Given the description of an element on the screen output the (x, y) to click on. 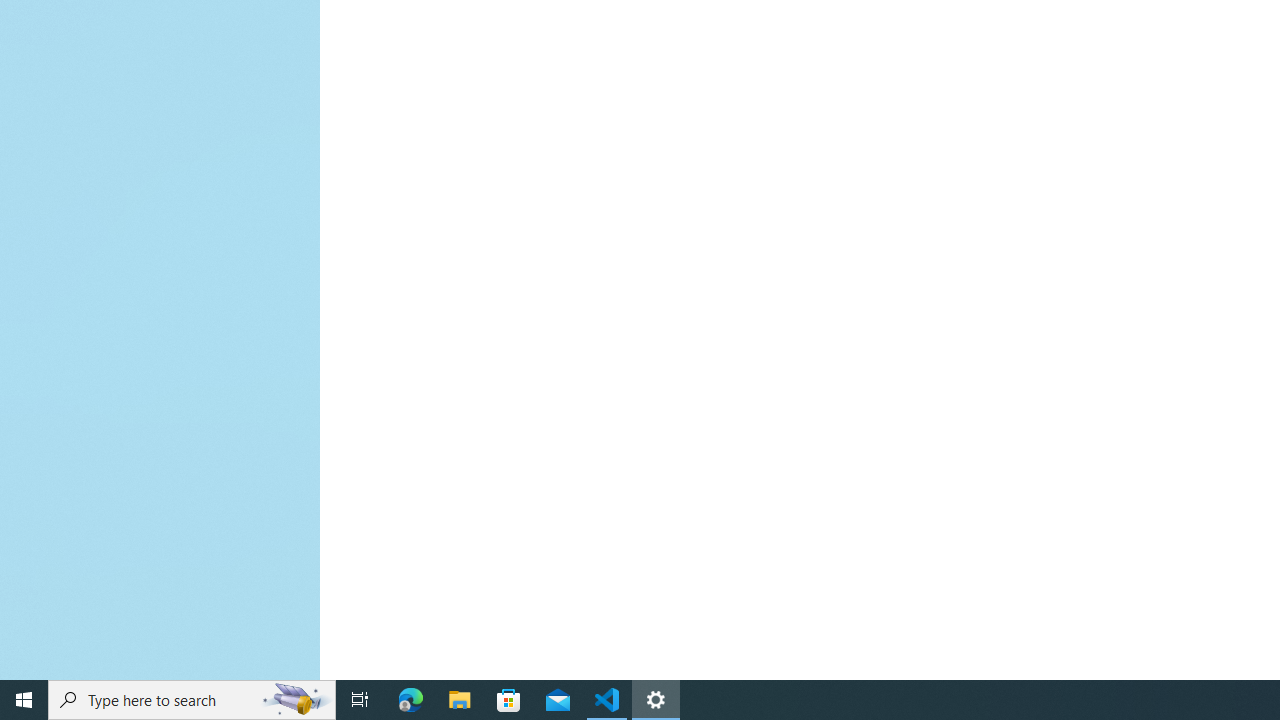
Visual Studio Code - 1 running window (607, 699)
Microsoft Store (509, 699)
Type here to search (191, 699)
File Explorer (460, 699)
Microsoft Edge (411, 699)
Settings - 1 running window (656, 699)
Search highlights icon opens search home window (295, 699)
Task View (359, 699)
Start (24, 699)
